Given the description of an element on the screen output the (x, y) to click on. 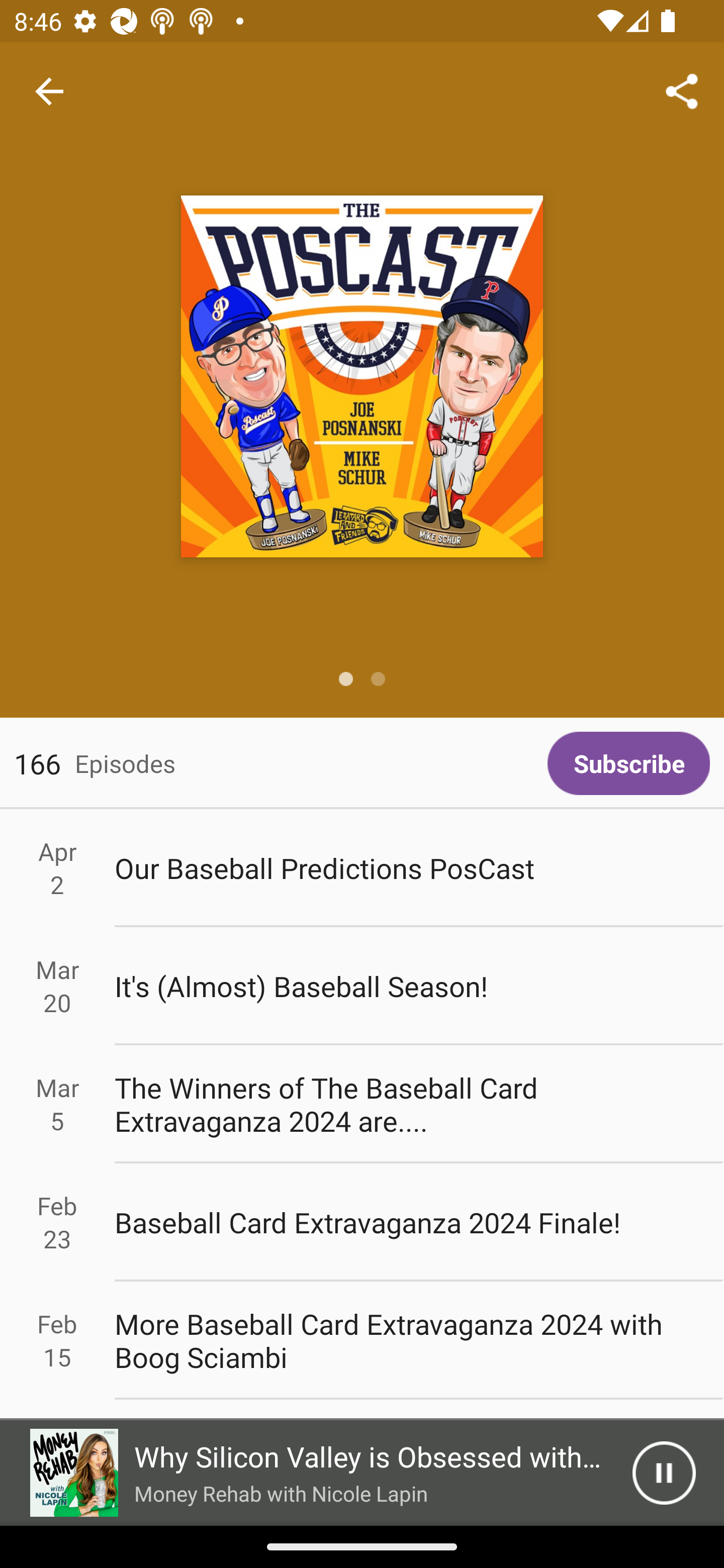
Navigate up (49, 91)
Share... (681, 90)
Subscribe (628, 763)
Apr 2 Our Baseball Predictions PosCast (362, 867)
Mar 20 It's (Almost) Baseball Season! (362, 985)
Feb 23 Baseball Card Extravaganza 2024 Finale! (362, 1222)
Pause (663, 1472)
